Given the description of an element on the screen output the (x, y) to click on. 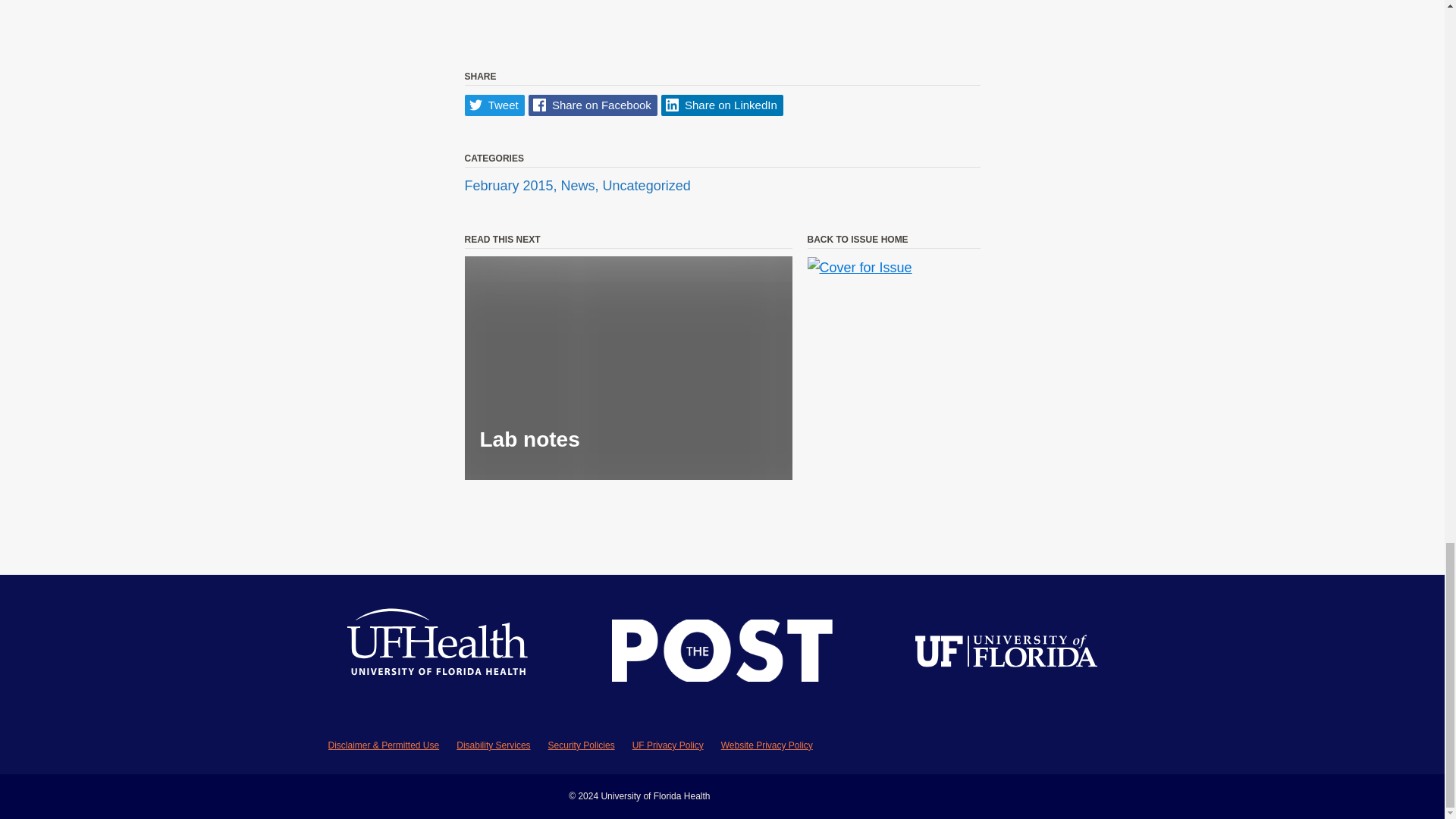
University of Florida (1005, 653)
UF Health Logo (437, 653)
February 2015, (512, 186)
News, (581, 186)
Security Policies (581, 745)
Uncategorized (646, 186)
Website Privacy Policy (766, 745)
Disability Services (493, 745)
Lab notes (628, 367)
Publication Logo (721, 653)
Share on LinkedIn (722, 106)
University of Florida Logo (1005, 653)
UF Health (437, 653)
UF Privacy Policy (667, 745)
Tweet (494, 106)
